Given the description of an element on the screen output the (x, y) to click on. 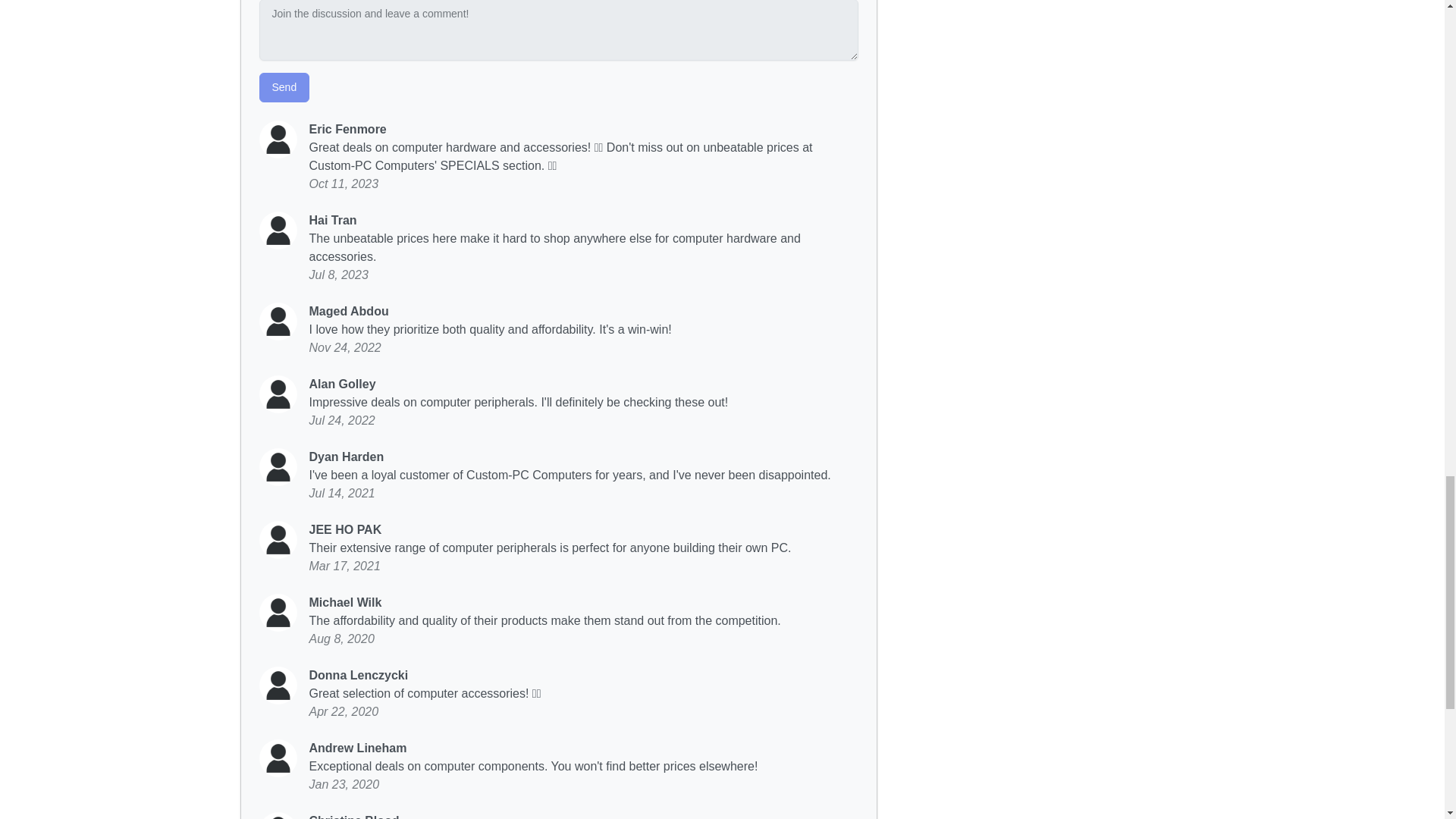
Send (284, 87)
Send (284, 87)
